Given the description of an element on the screen output the (x, y) to click on. 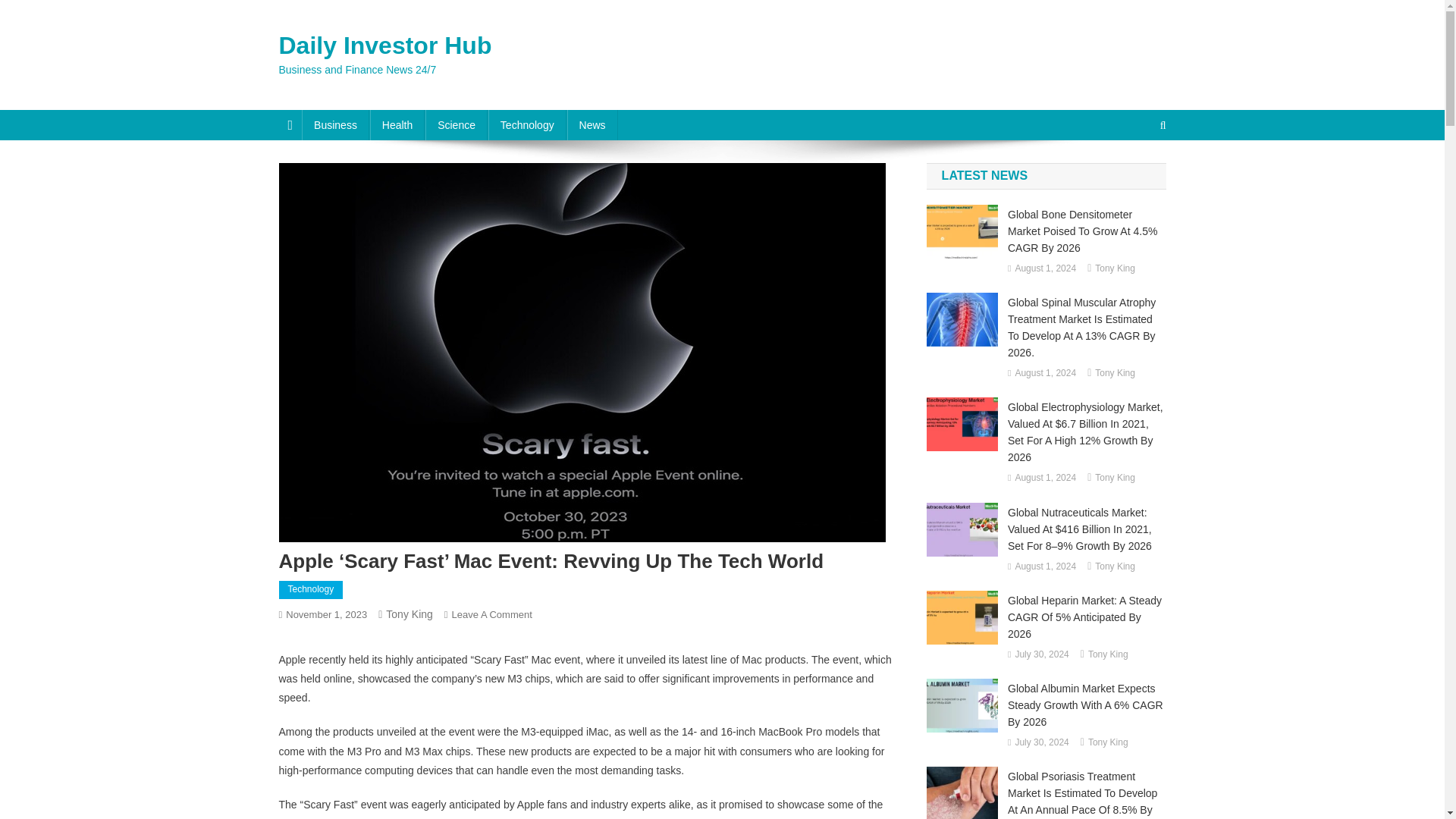
Business (335, 124)
Tony King (1114, 269)
Technology (311, 589)
Technology (526, 124)
Tony King (408, 613)
Daily Investor Hub (385, 44)
Health (397, 124)
Science (456, 124)
Search (1133, 175)
August 1, 2024 (1044, 269)
News (592, 124)
November 1, 2023 (325, 614)
